Given the description of an element on the screen output the (x, y) to click on. 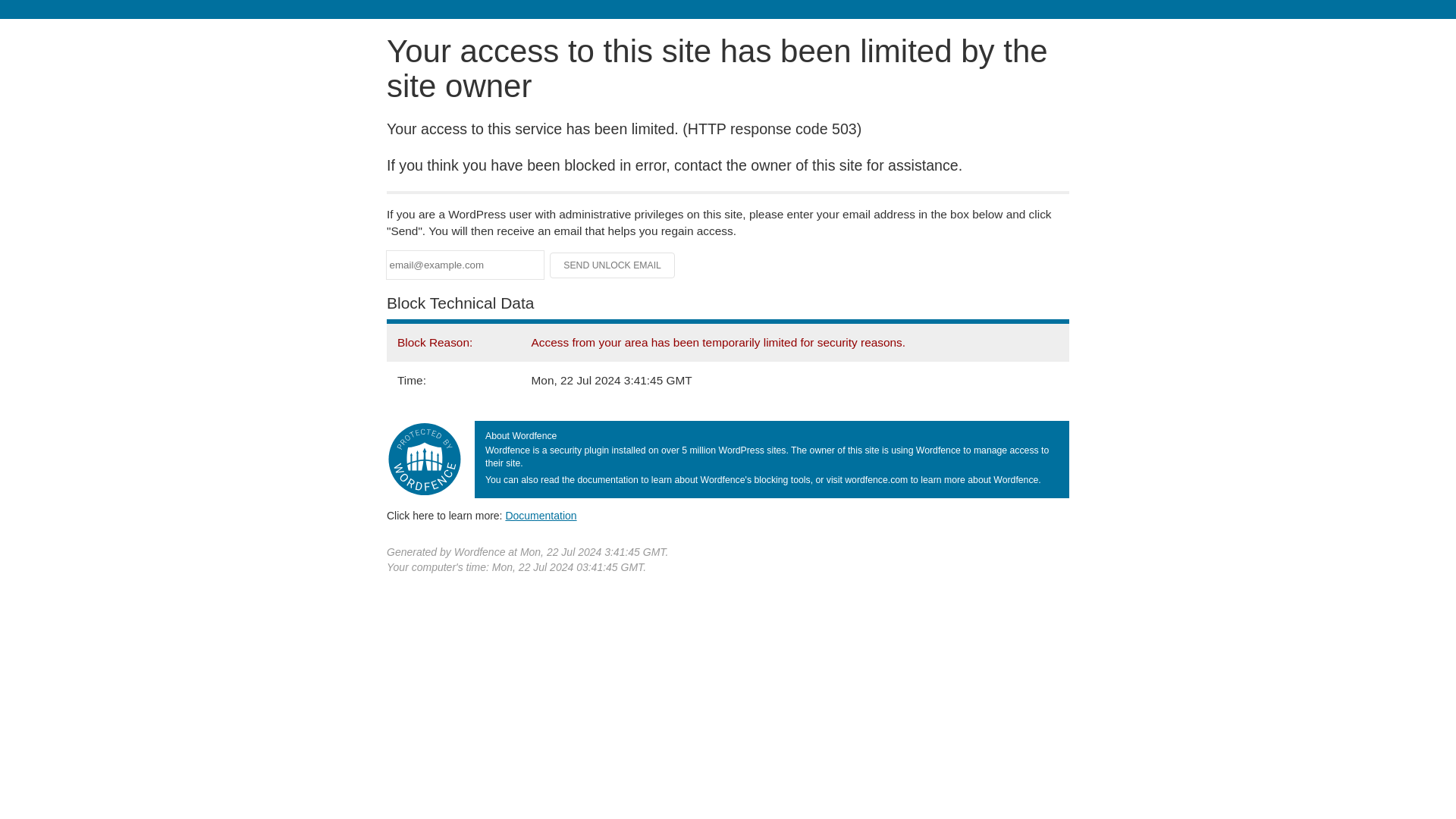
Documentation (540, 515)
Send Unlock Email (612, 265)
Send Unlock Email (612, 265)
